Given the description of an element on the screen output the (x, y) to click on. 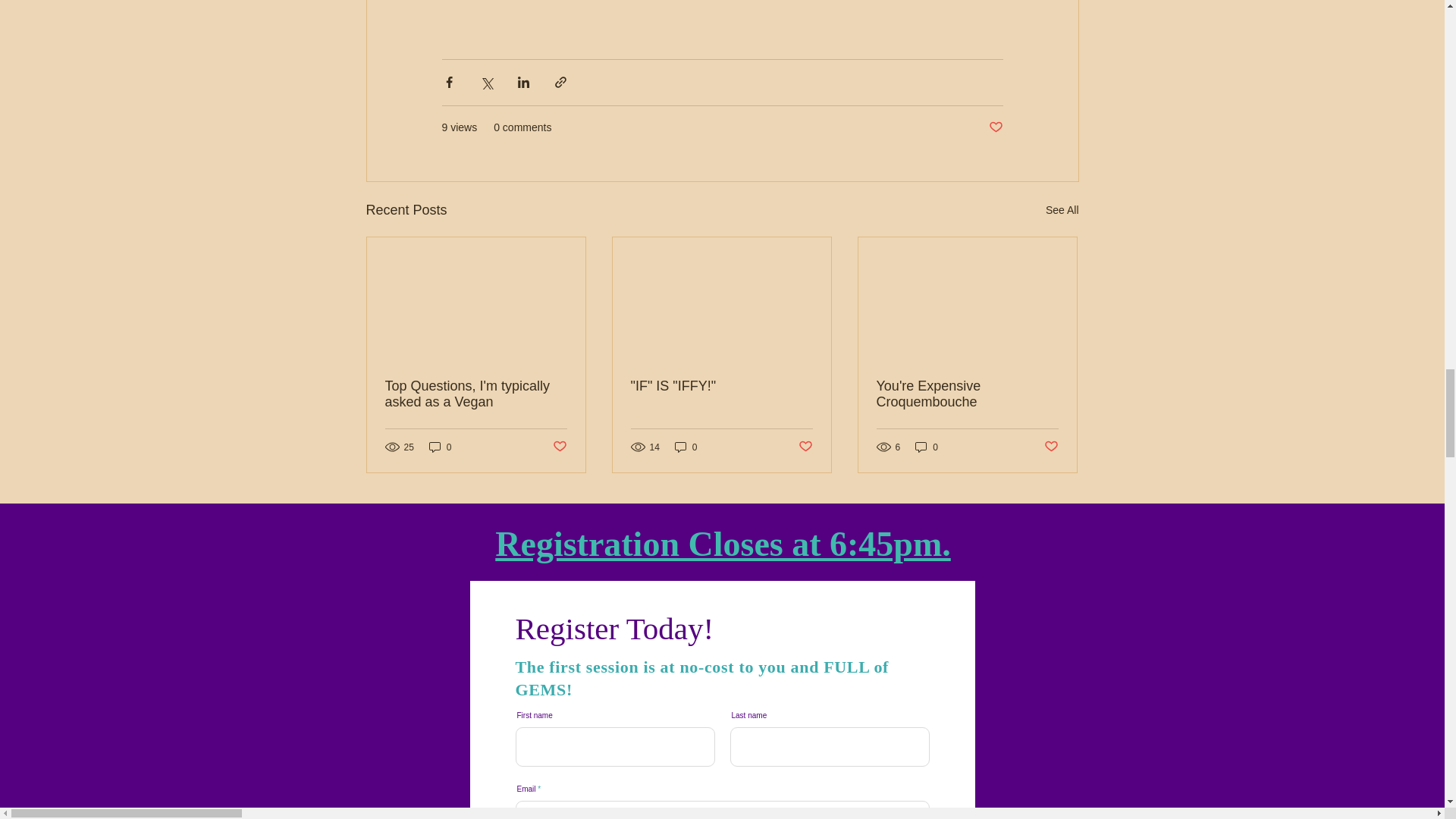
Top Questions, I'm typically asked as a Vegan (476, 394)
Post not marked as liked (1050, 446)
0 (440, 446)
0 (926, 446)
0 (685, 446)
See All (1061, 210)
"IF" IS "IFFY!" (721, 385)
You're Expensive Croquembouche (967, 394)
Post not marked as liked (558, 446)
Post not marked as liked (995, 127)
